Given the description of an element on the screen output the (x, y) to click on. 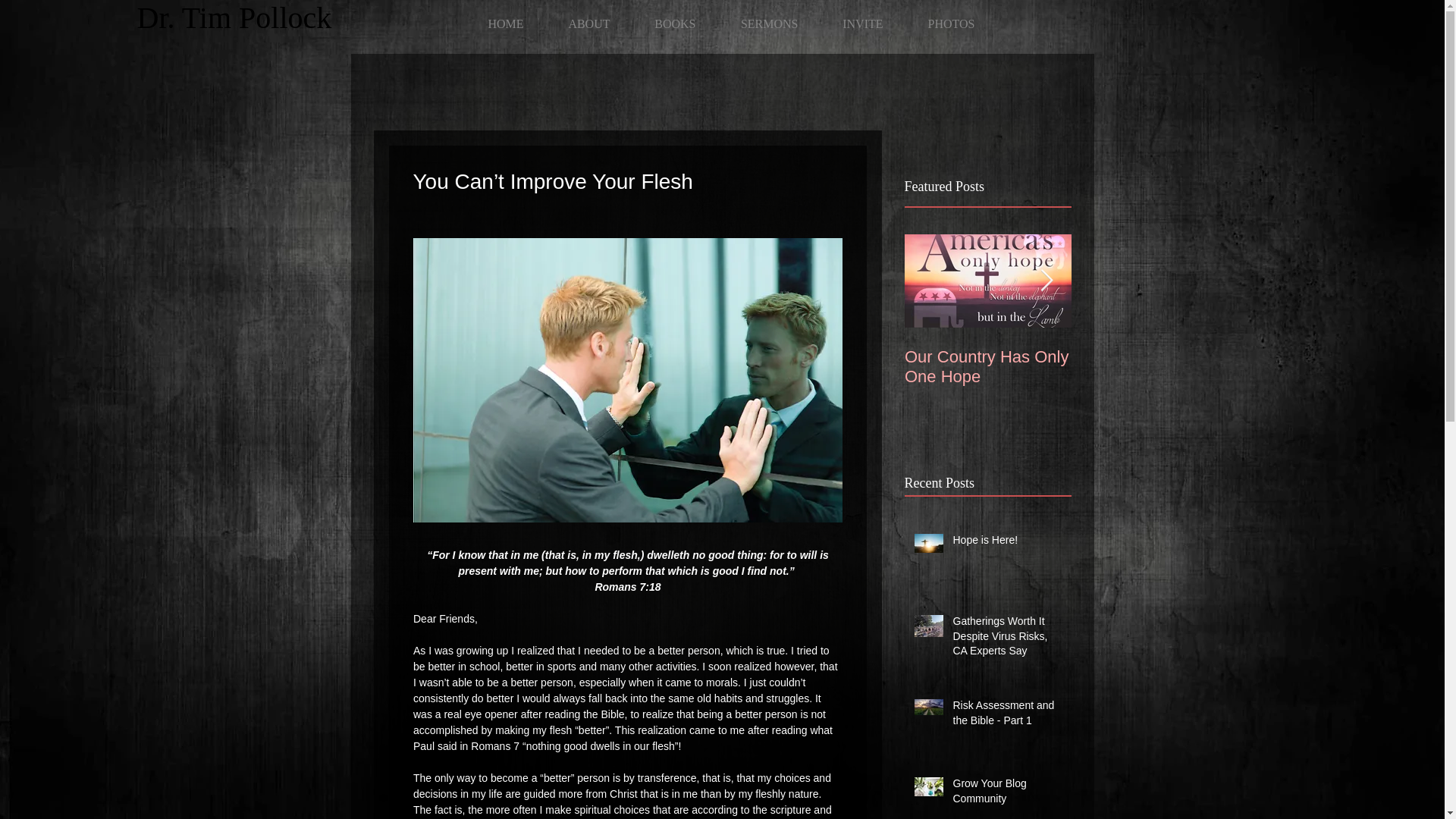
SERMONS (761, 16)
INVITE (853, 16)
Risk Assessment and the Bible - Part 1 (1006, 715)
The 6 Aspects of A Joyful Marriage (1153, 366)
HOME (497, 16)
Our Country Has Only One Hope (987, 366)
Hope is Here! (1006, 543)
Gatherings Worth It Despite Virus Risks, CA Experts Say (1006, 639)
ABOUT (580, 16)
Grow Your Blog Community (1006, 794)
BOOKS (666, 16)
PHOTOS (942, 16)
